Given the description of an element on the screen output the (x, y) to click on. 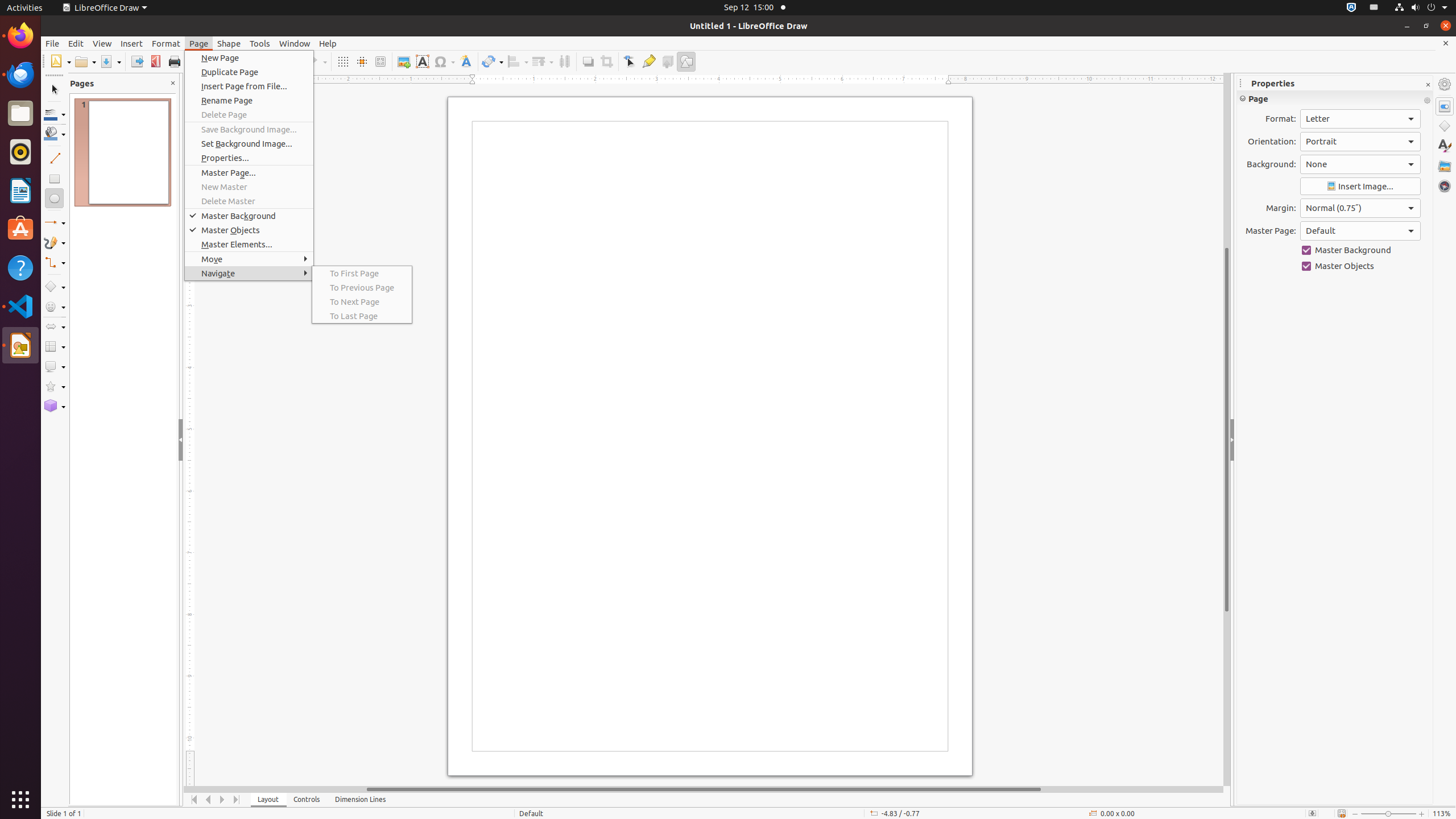
Vertical scroll bar Element type: scroll-bar (1226, 429)
Thunderbird Mail Element type: push-button (20, 74)
Helplines While Moving Element type: toggle-button (361, 61)
Master Background Element type: check-box (1360, 249)
Grid Element type: toggle-button (342, 61)
